Given the description of an element on the screen output the (x, y) to click on. 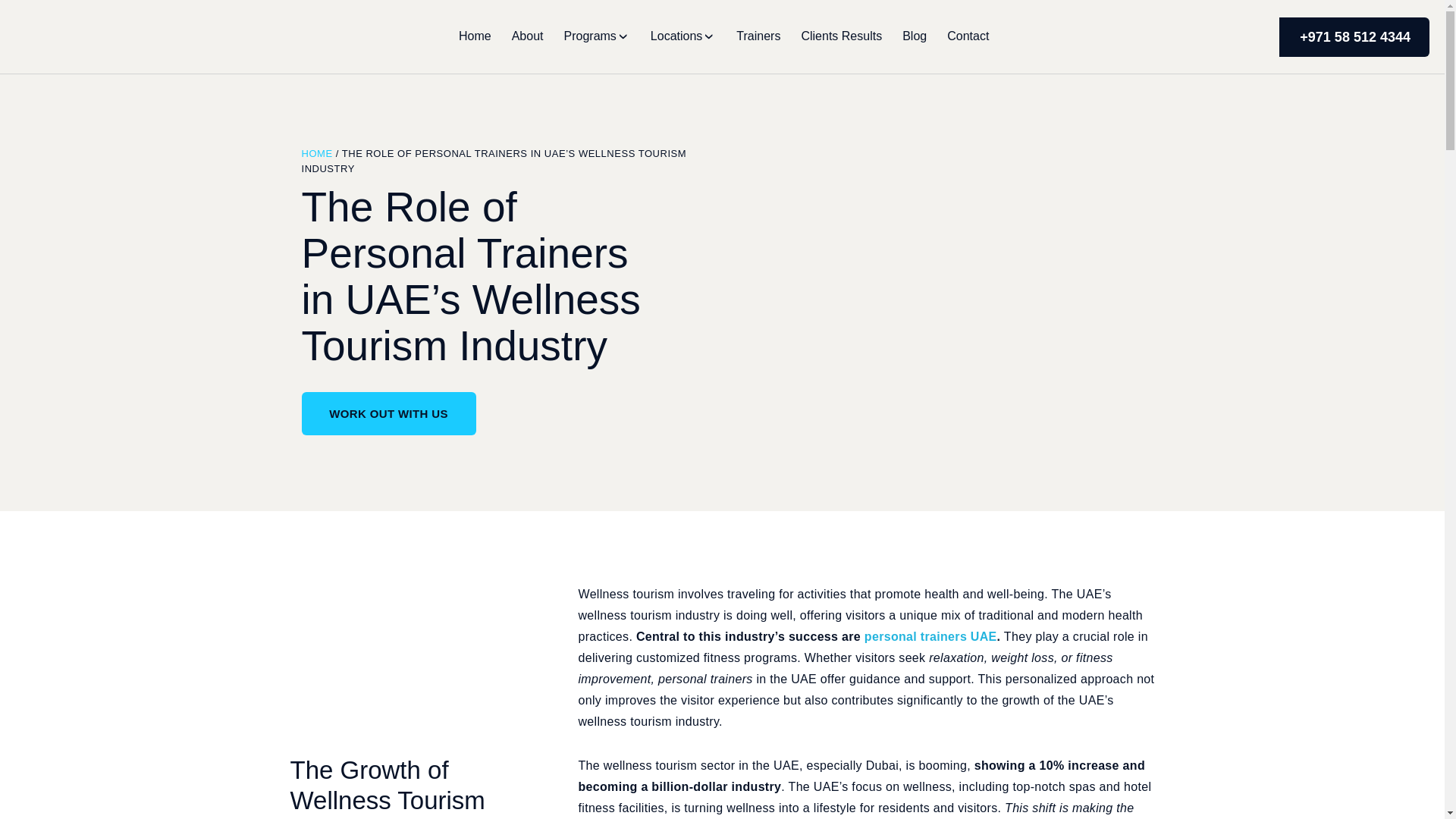
personal trainers UAE (930, 635)
Blog (914, 35)
About (527, 35)
Trainers (758, 35)
Home (475, 35)
Contact (967, 35)
Clients Results (841, 35)
Programs (589, 35)
Locations (676, 35)
HOME (317, 153)
